Given the description of an element on the screen output the (x, y) to click on. 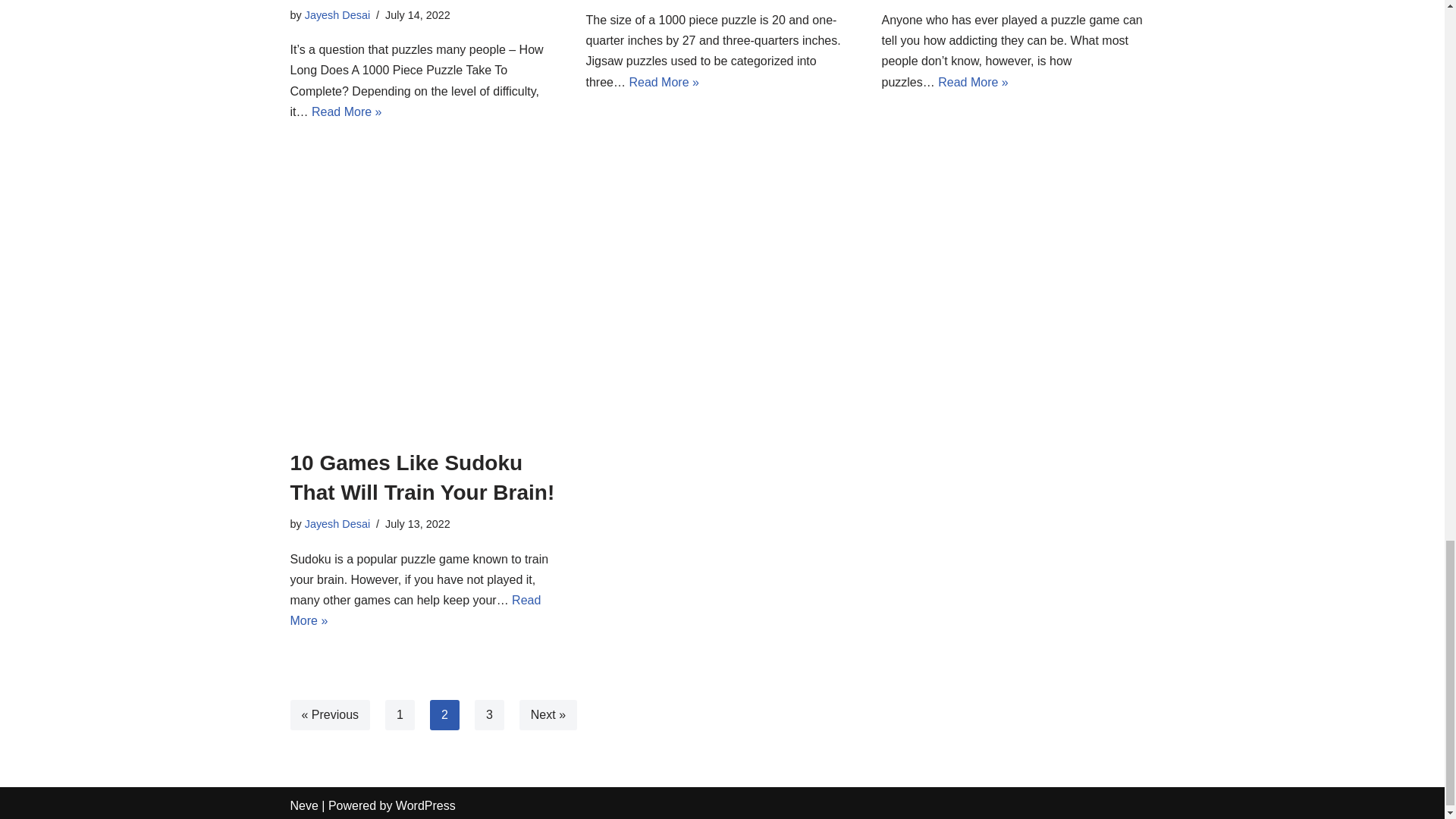
Posts by Jayesh Desai (336, 15)
